Given the description of an element on the screen output the (x, y) to click on. 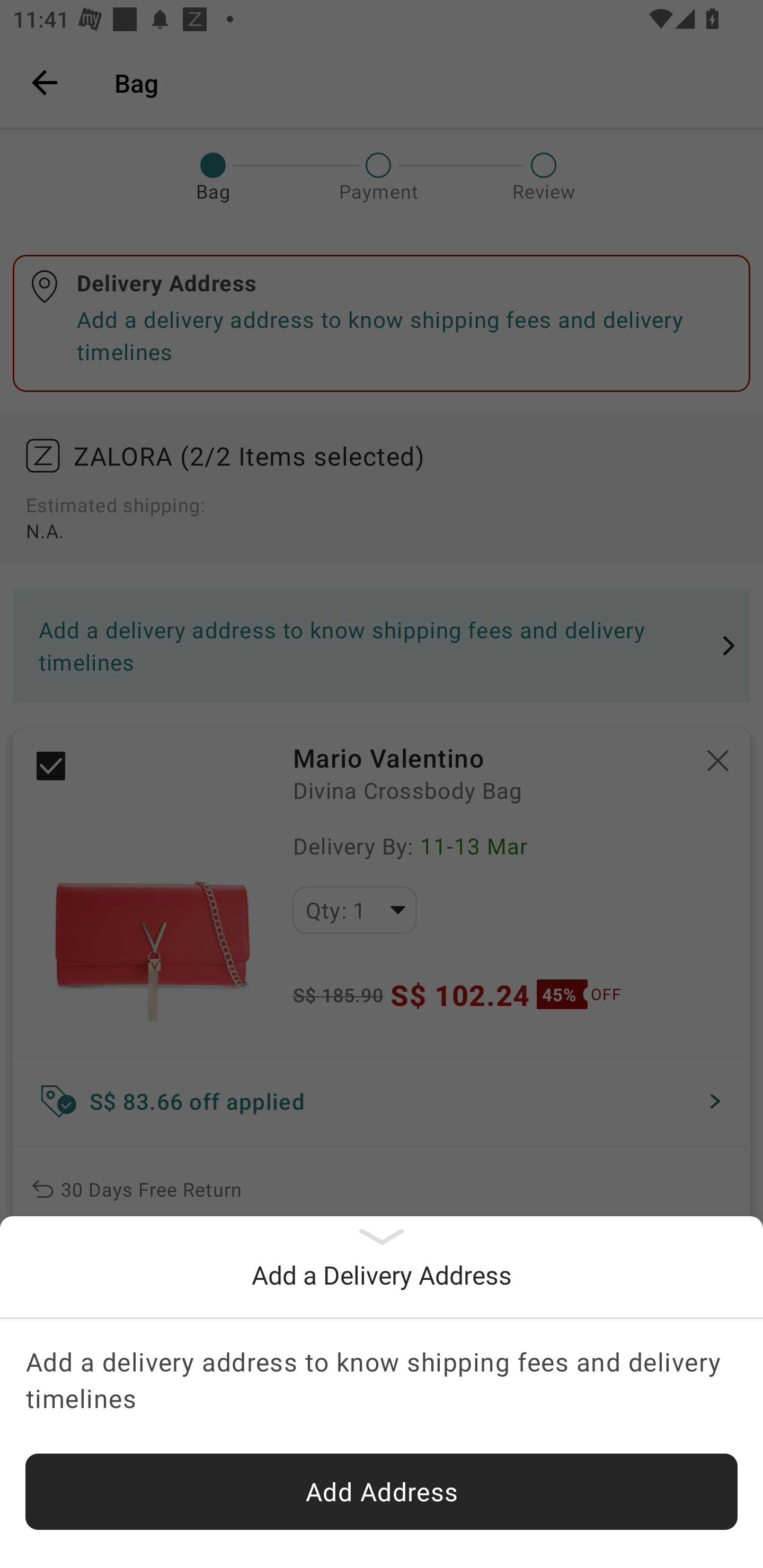
Add Address (381, 1491)
